Given the description of an element on the screen output the (x, y) to click on. 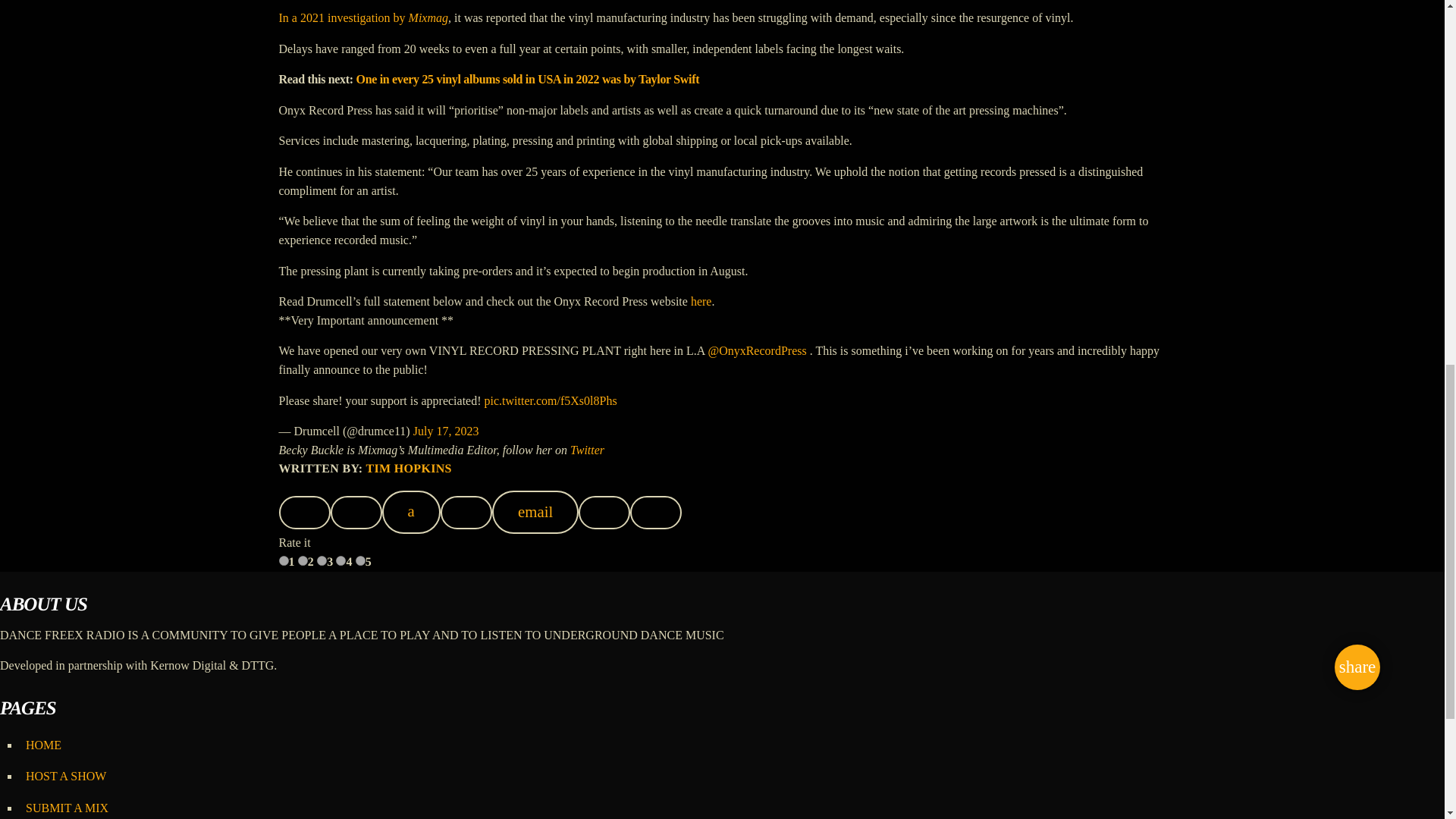
2 (302, 560)
5 (360, 560)
1 (283, 560)
4 (341, 560)
3 (321, 560)
